Given the description of an element on the screen output the (x, y) to click on. 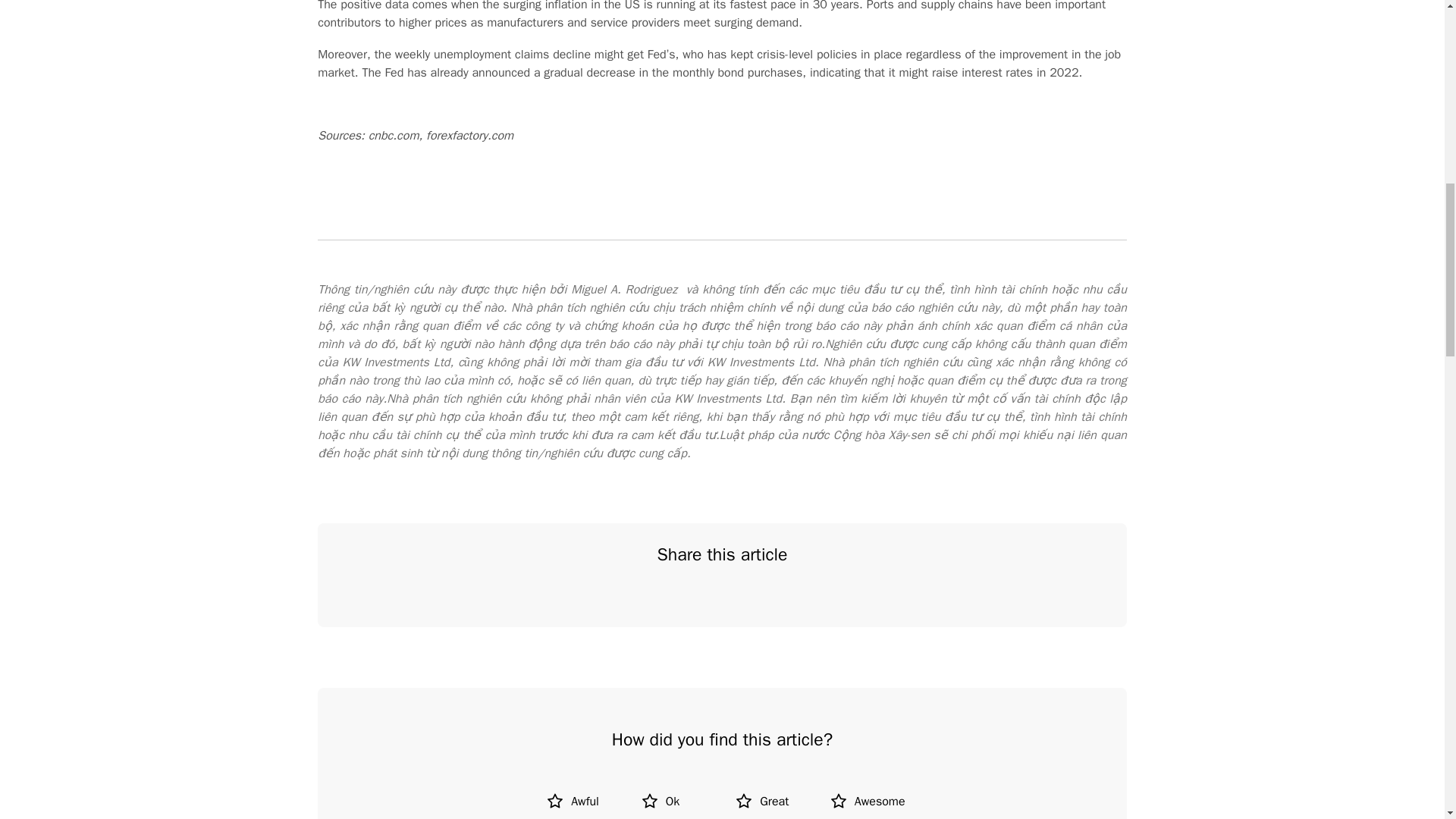
Article Hero (768, 597)
Article Hero (721, 597)
Article Hero (675, 597)
